Given the description of an element on the screen output the (x, y) to click on. 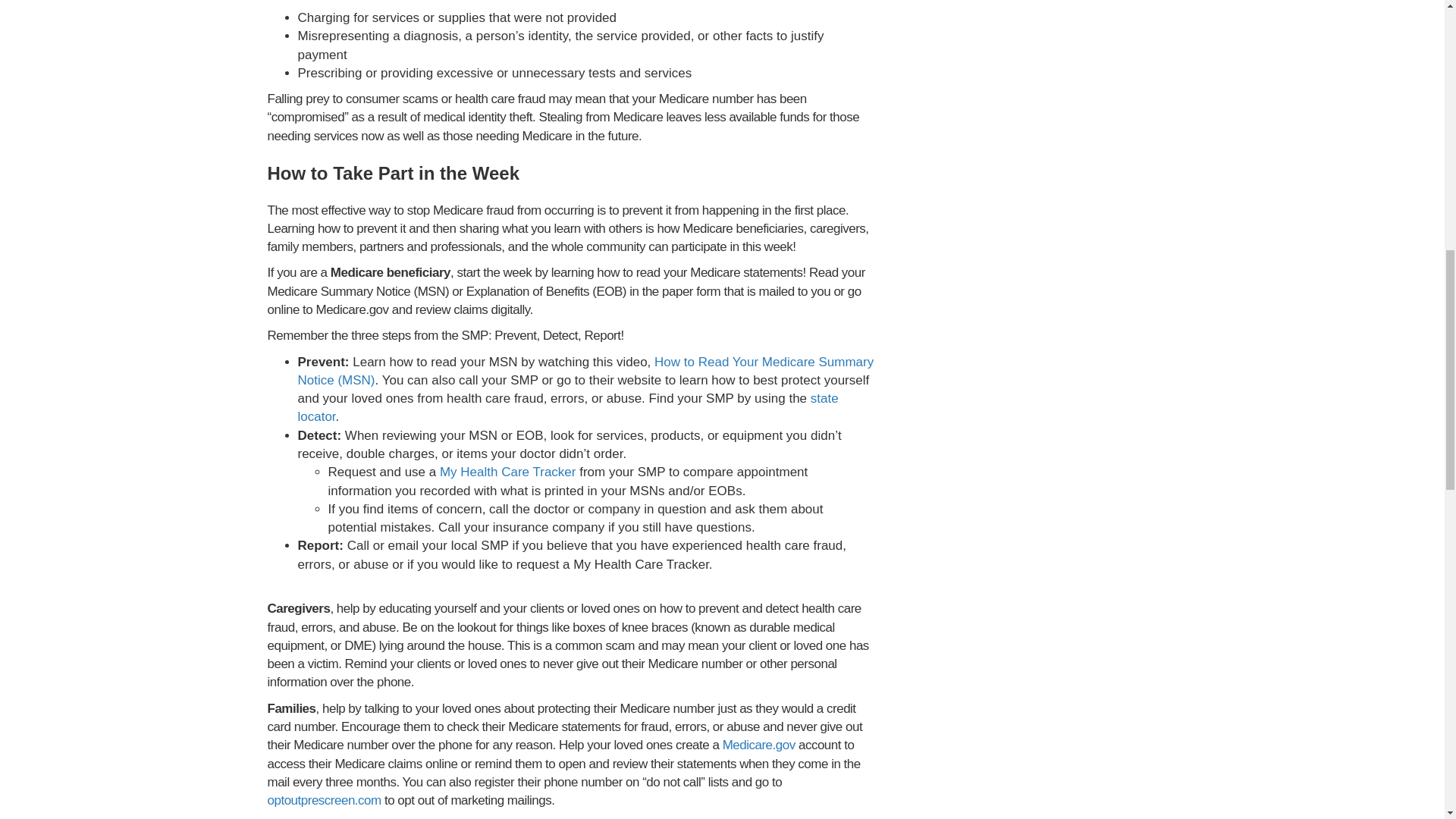
My Health Care Tracker (507, 472)
optoutprescreen.com (323, 800)
Medicare.gov (758, 744)
state locator (567, 407)
